Given the description of an element on the screen output the (x, y) to click on. 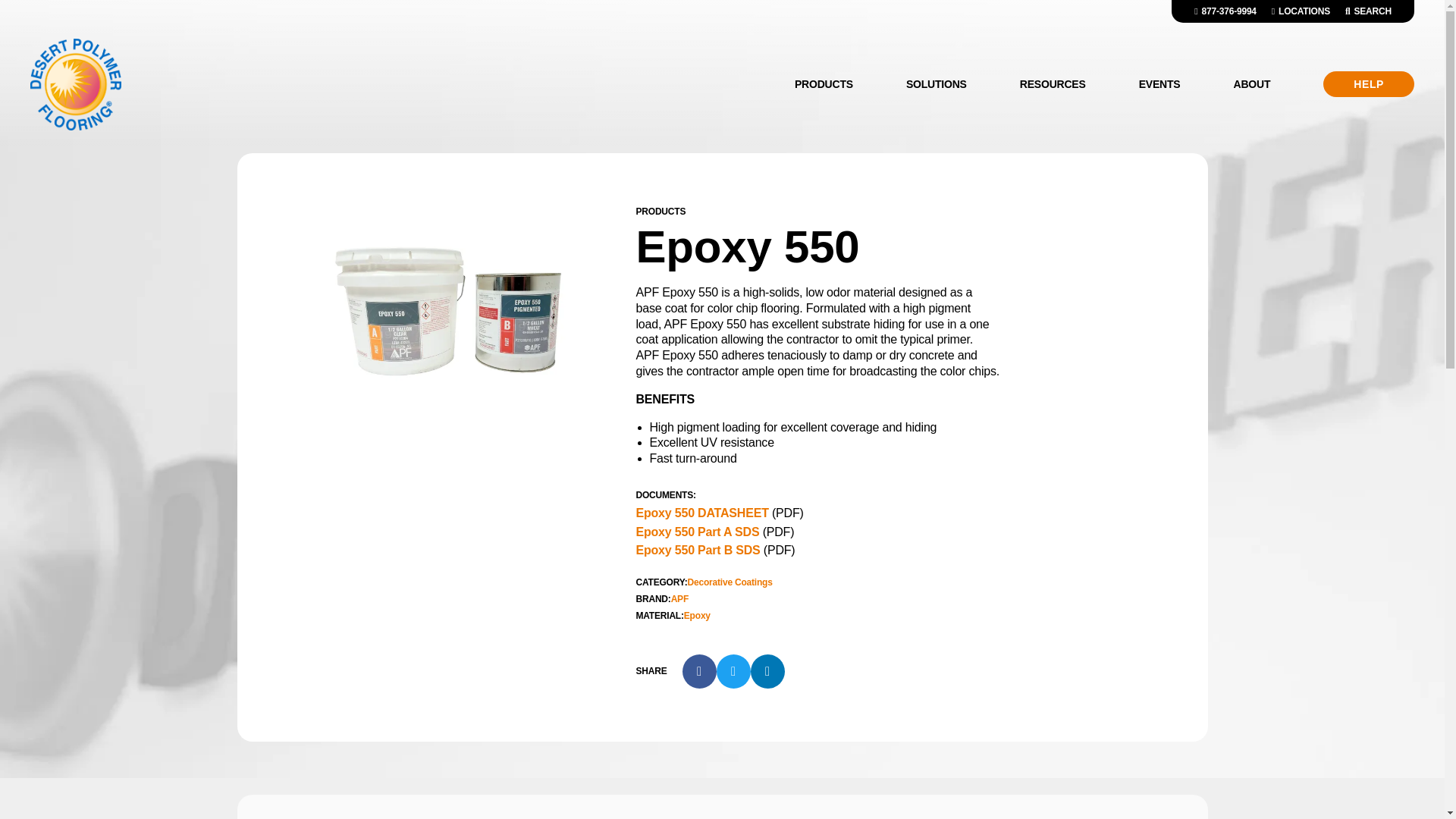
ABOUT (1251, 84)
SEARCH (1368, 11)
EVENTS (1159, 84)
SOLUTIONS (936, 84)
LOCATIONS (1300, 11)
RESOURCES (1052, 84)
877-376-9994 (1224, 11)
PRODUCTS (822, 84)
